Given the description of an element on the screen output the (x, y) to click on. 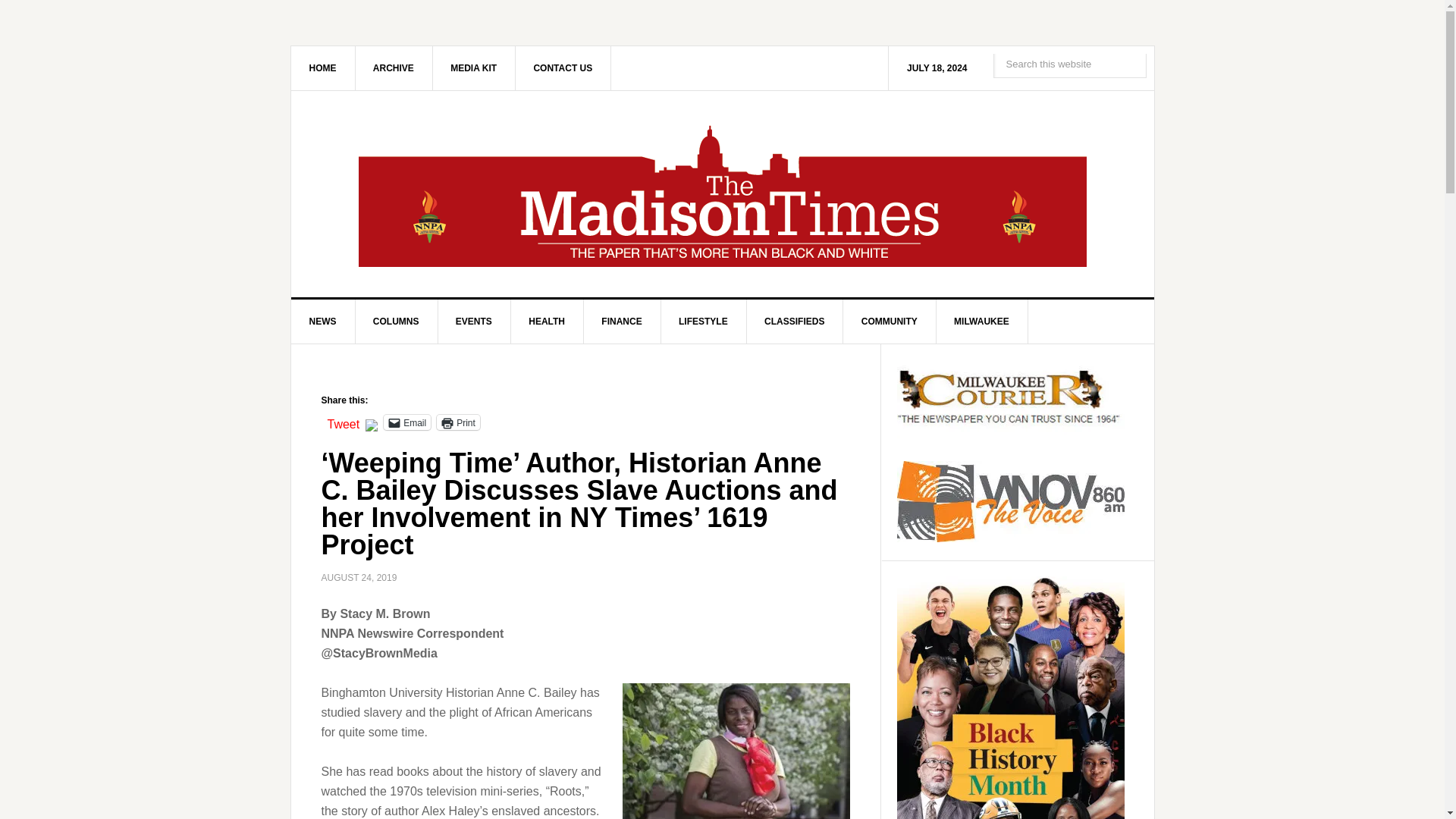
CLASSIFIEDS (794, 321)
Email (407, 421)
FINANCE (622, 321)
CONTACT US (563, 67)
COMMUNITY (889, 321)
Click to email a link to a friend (407, 421)
HEALTH (547, 321)
Click to print (458, 421)
MEDIA KIT (473, 67)
ARCHIVE (393, 67)
EVENTS (474, 321)
HOME (323, 67)
NEWS (323, 321)
Tweet (343, 421)
